Given the description of an element on the screen output the (x, y) to click on. 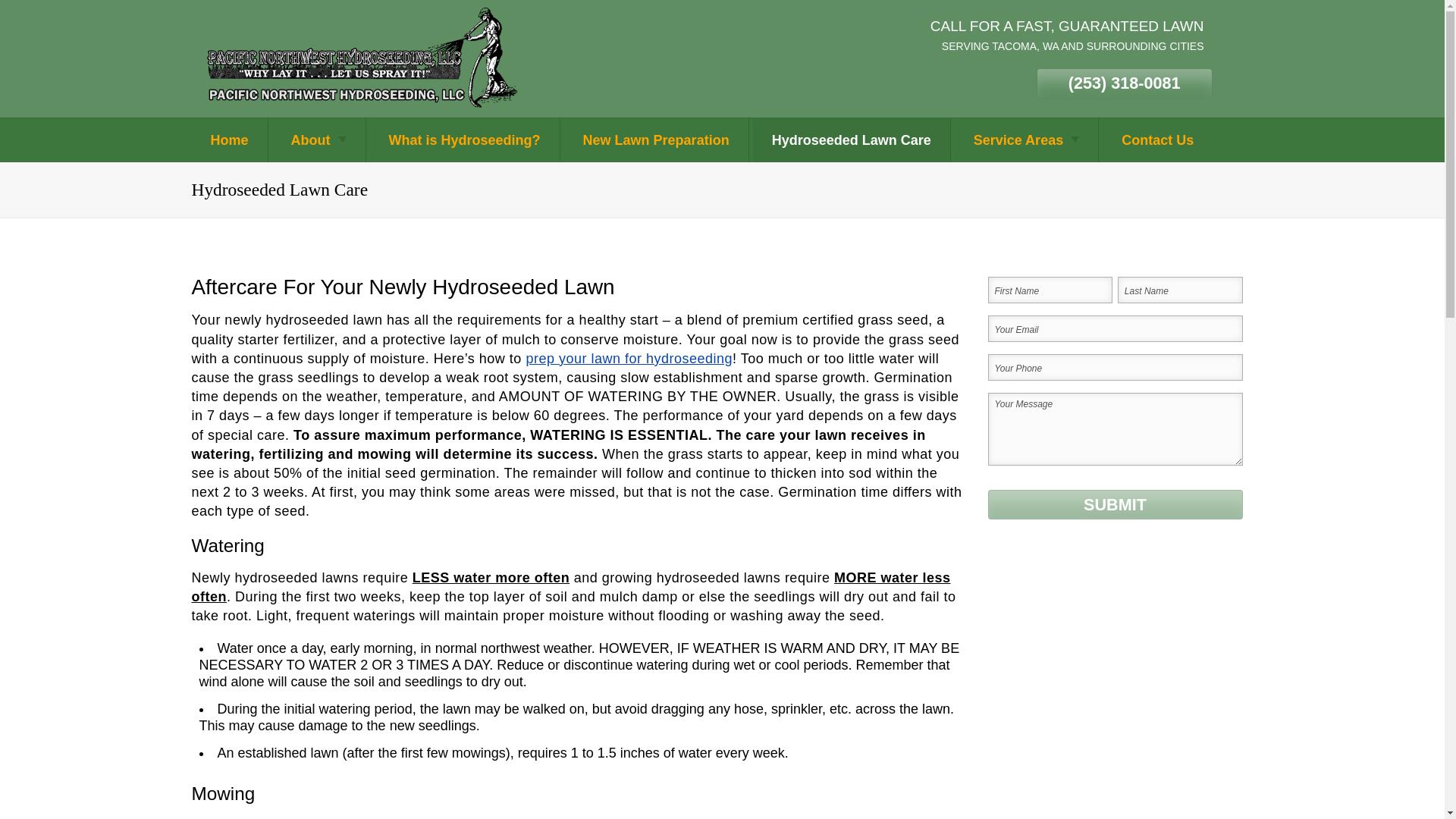
Hydroseeded Lawn Care (851, 139)
Home (228, 139)
Submit (1114, 504)
Contact Us (1157, 139)
New Lawn Preparation (656, 139)
Submit (1114, 504)
Service Areas (1026, 139)
What is Hydroseeding? (464, 139)
About (318, 139)
prep your lawn for hydroseeding (628, 358)
